Given the description of an element on the screen output the (x, y) to click on. 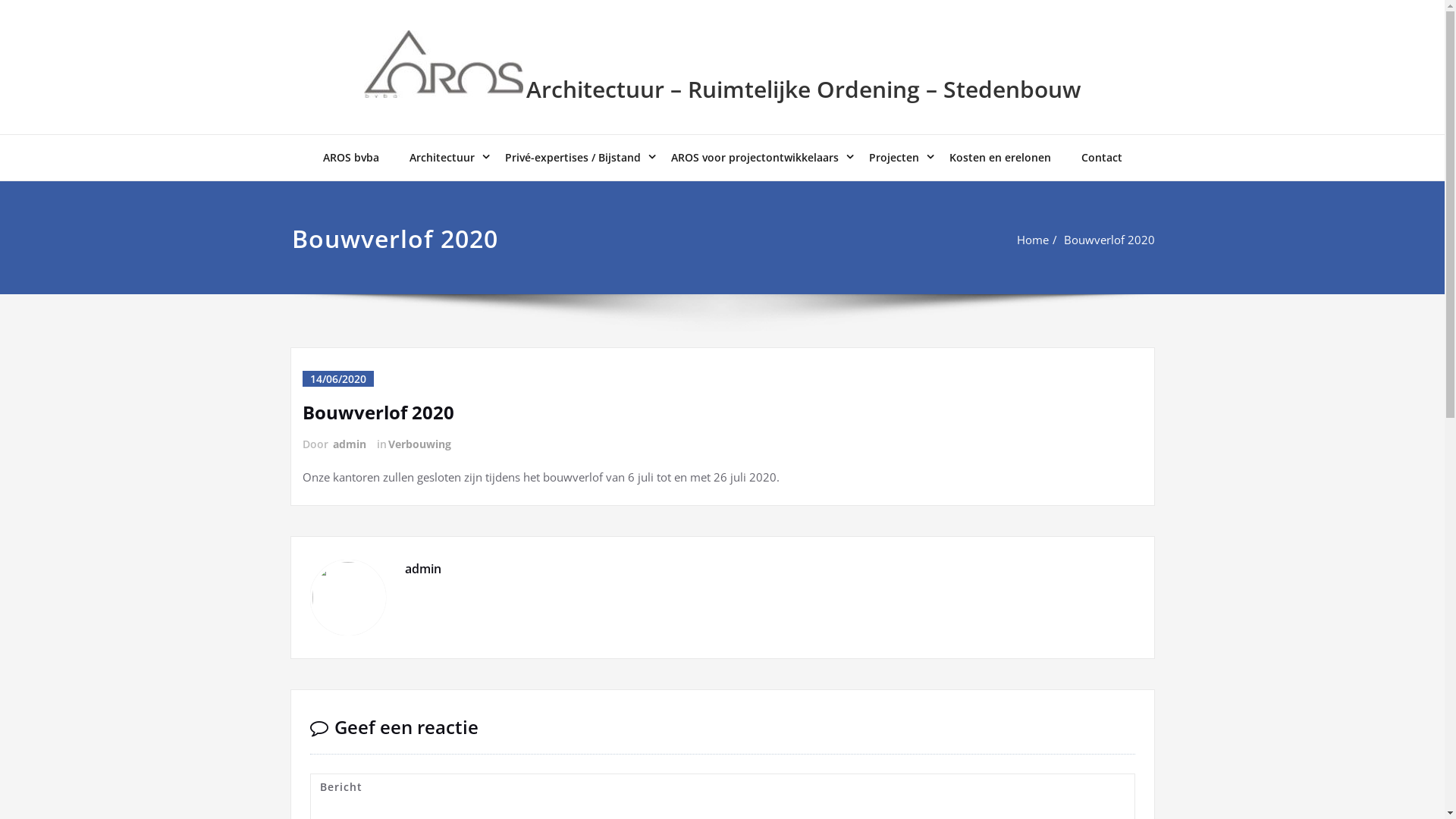
Bouwverlof 2020 Element type: text (1108, 239)
AROS voor projectontwikkelaars Element type: text (754, 157)
Home Element type: text (1032, 239)
Verbouwing Element type: text (418, 443)
admin Element type: text (347, 443)
14/06/2020 Element type: text (337, 378)
Doorgaan naar artikel Element type: text (0, 0)
Architectuur Element type: text (441, 157)
Contact Element type: text (1101, 157)
Projecten Element type: text (893, 157)
AROS bvba Element type: text (350, 157)
Kosten en erelonen Element type: text (1000, 157)
